Given the description of an element on the screen output the (x, y) to click on. 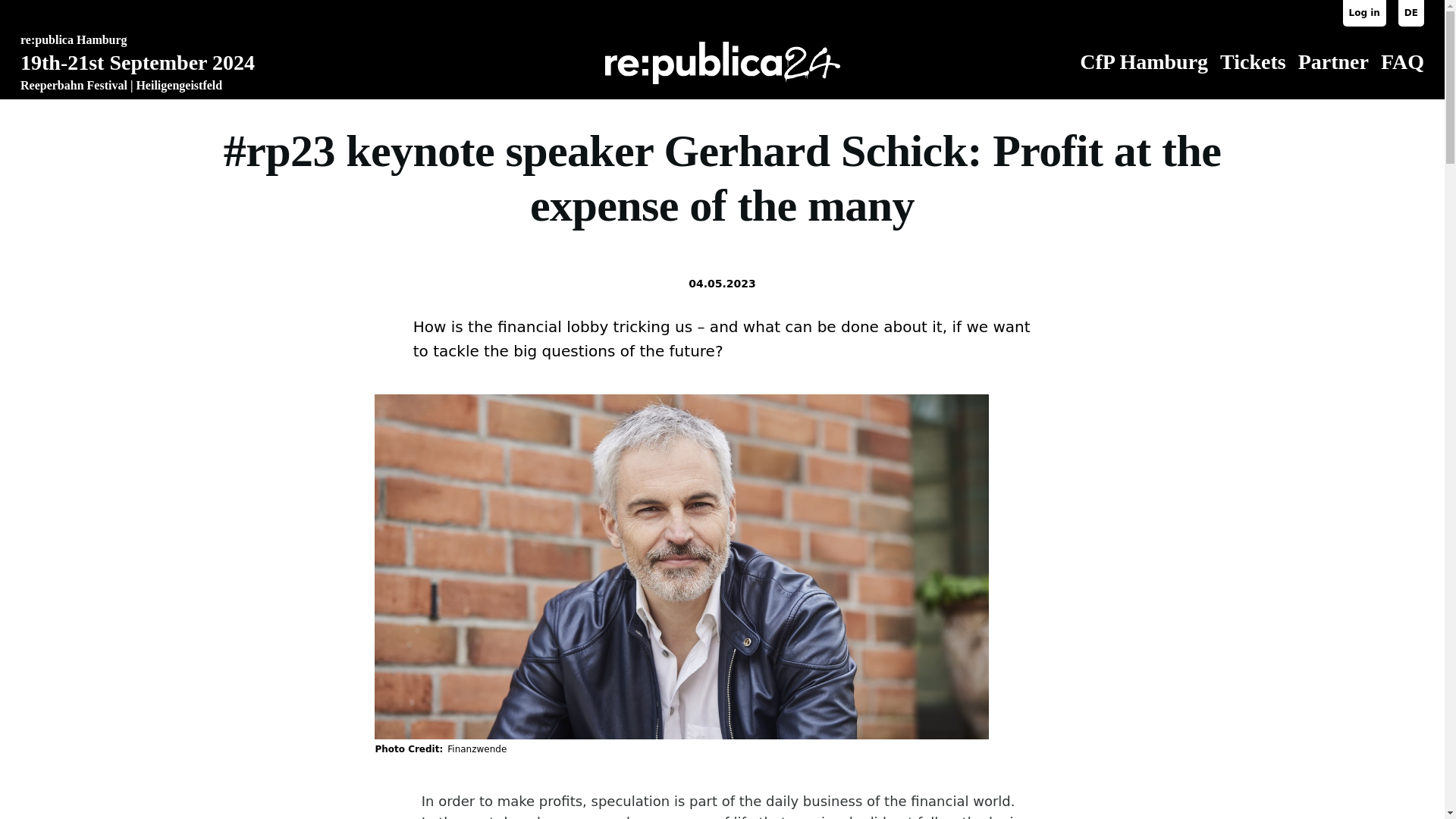
Deutsch (1410, 13)
Tickets (1252, 61)
FAQ (1401, 61)
Log in (1364, 13)
Partner (1333, 61)
DE (1410, 13)
Skip to main content (595, 6)
CfP Hamburg (1144, 61)
